Given the description of an element on the screen output the (x, y) to click on. 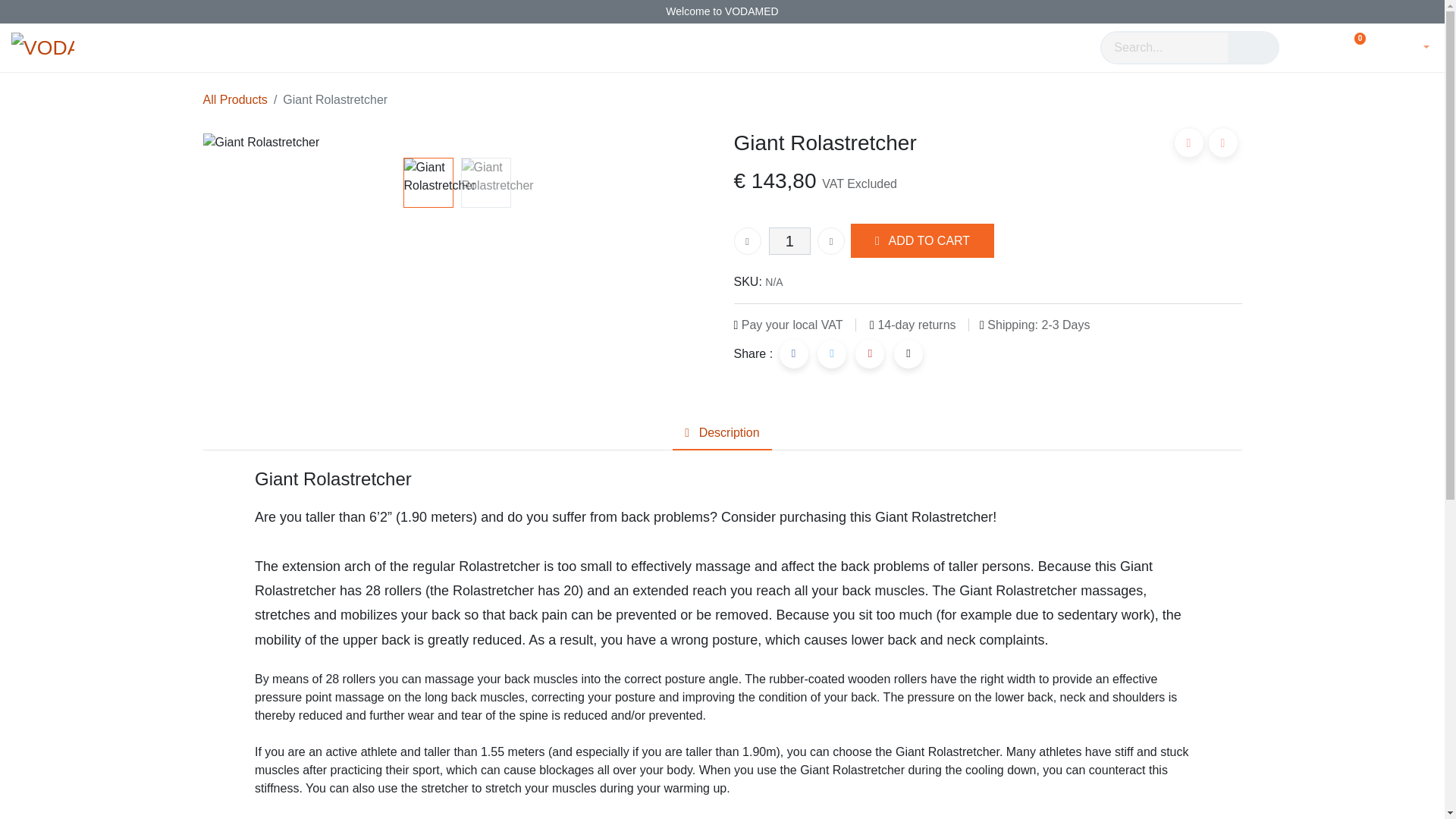
1 (789, 240)
0 (1349, 45)
Add to wishlist (1222, 142)
Add one (830, 240)
Search (1253, 47)
VODAMED (42, 47)
All Products (235, 99)
Remove one (747, 240)
